Given the description of an element on the screen output the (x, y) to click on. 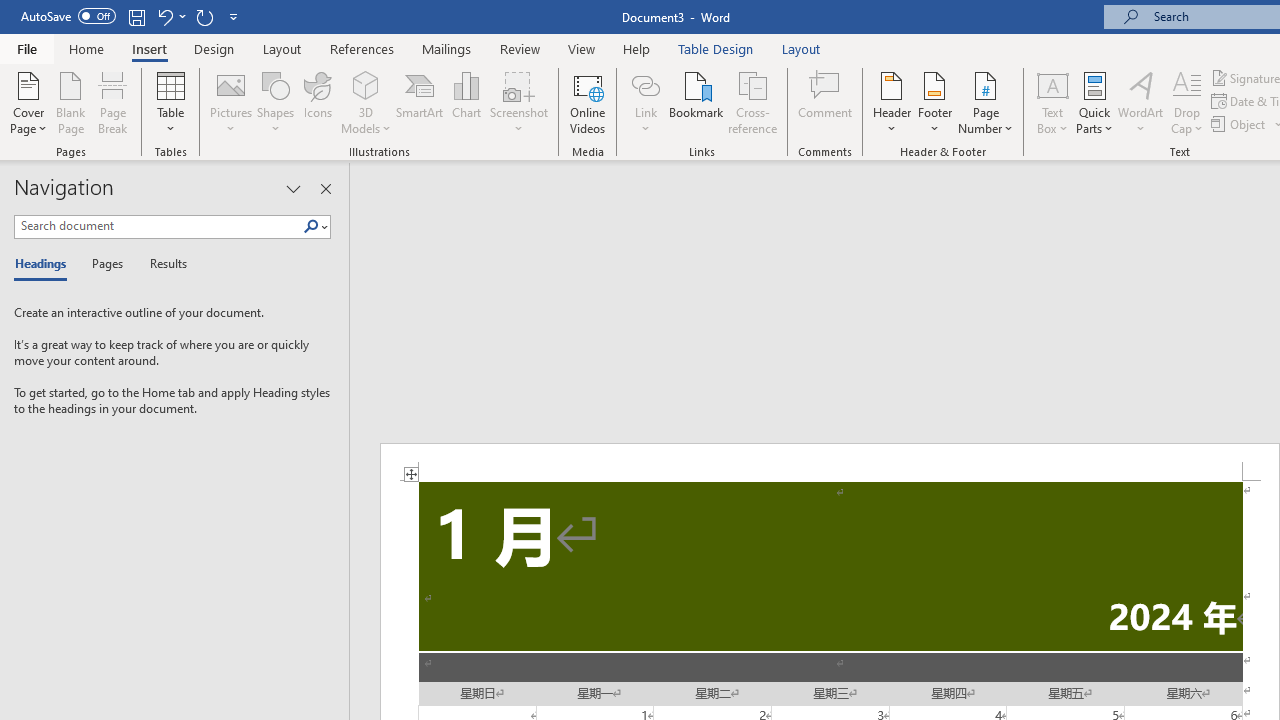
Undo Increase Indent (164, 15)
Header -Section 1- (830, 461)
Table (170, 102)
Comment (825, 102)
Search document (157, 226)
Text Box (1052, 102)
Header (891, 102)
Headings (45, 264)
